Given the description of an element on the screen output the (x, y) to click on. 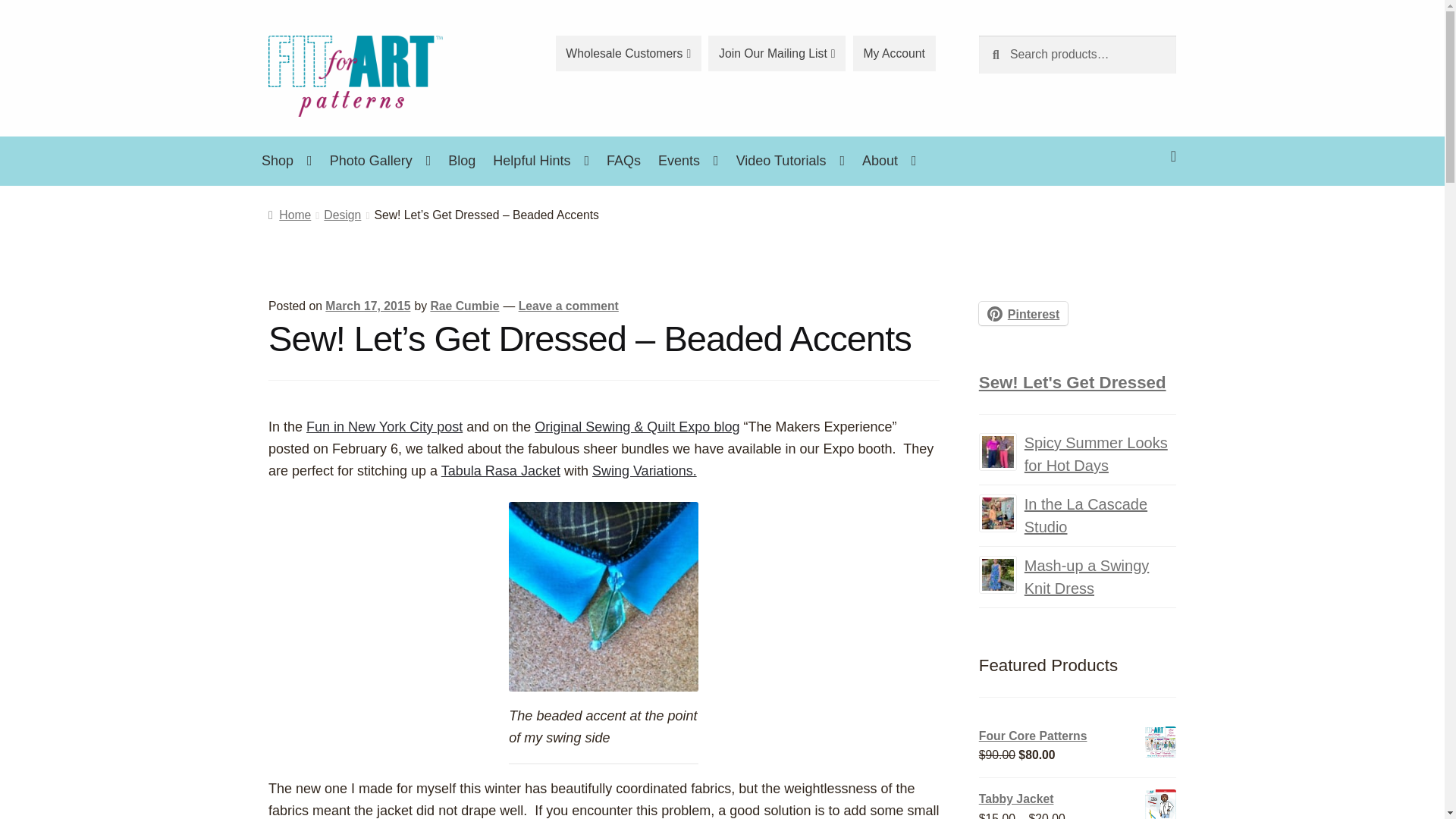
Sew! Let's Get Dressed (1072, 382)
Helpful Hints (540, 160)
View your shopping cart (1077, 143)
Photo Gallery (380, 160)
Join Our Mailing List (776, 53)
Wholesale Customers (628, 53)
Shop (286, 160)
My Account (894, 53)
